Given the description of an element on the screen output the (x, y) to click on. 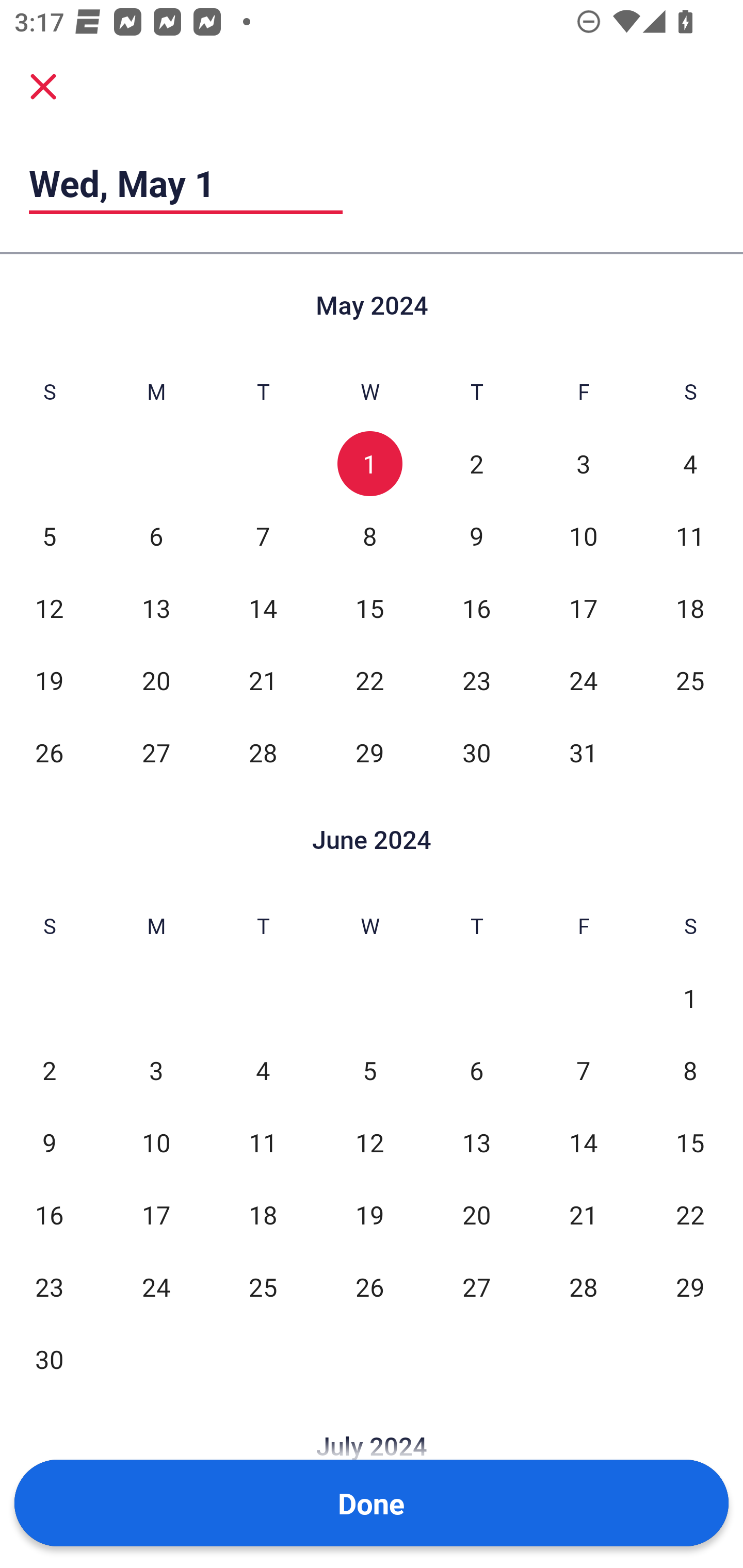
Cancel (43, 86)
Wed, May 1 (185, 182)
1 Wed, May 1, Selected (369, 464)
2 Thu, May 2, Not Selected (476, 464)
3 Fri, May 3, Not Selected (583, 464)
4 Sat, May 4, Not Selected (690, 464)
5 Sun, May 5, Not Selected (49, 536)
6 Mon, May 6, Not Selected (156, 536)
7 Tue, May 7, Not Selected (263, 536)
8 Wed, May 8, Not Selected (369, 536)
9 Thu, May 9, Not Selected (476, 536)
10 Fri, May 10, Not Selected (583, 536)
11 Sat, May 11, Not Selected (690, 536)
12 Sun, May 12, Not Selected (49, 608)
13 Mon, May 13, Not Selected (156, 608)
14 Tue, May 14, Not Selected (263, 608)
15 Wed, May 15, Not Selected (369, 608)
16 Thu, May 16, Not Selected (476, 608)
17 Fri, May 17, Not Selected (583, 608)
18 Sat, May 18, Not Selected (690, 608)
19 Sun, May 19, Not Selected (49, 680)
20 Mon, May 20, Not Selected (156, 680)
21 Tue, May 21, Not Selected (263, 680)
22 Wed, May 22, Not Selected (369, 680)
23 Thu, May 23, Not Selected (476, 680)
24 Fri, May 24, Not Selected (583, 680)
25 Sat, May 25, Not Selected (690, 680)
26 Sun, May 26, Not Selected (49, 752)
27 Mon, May 27, Not Selected (156, 752)
28 Tue, May 28, Not Selected (263, 752)
29 Wed, May 29, Not Selected (369, 752)
30 Thu, May 30, Not Selected (476, 752)
31 Fri, May 31, Not Selected (583, 752)
1 Sat, Jun 1, Not Selected (690, 997)
2 Sun, Jun 2, Not Selected (49, 1070)
3 Mon, Jun 3, Not Selected (156, 1070)
4 Tue, Jun 4, Not Selected (263, 1070)
5 Wed, Jun 5, Not Selected (369, 1070)
6 Thu, Jun 6, Not Selected (476, 1070)
7 Fri, Jun 7, Not Selected (583, 1070)
8 Sat, Jun 8, Not Selected (690, 1070)
9 Sun, Jun 9, Not Selected (49, 1143)
10 Mon, Jun 10, Not Selected (156, 1143)
11 Tue, Jun 11, Not Selected (263, 1143)
12 Wed, Jun 12, Not Selected (369, 1143)
13 Thu, Jun 13, Not Selected (476, 1143)
14 Fri, Jun 14, Not Selected (583, 1143)
15 Sat, Jun 15, Not Selected (690, 1143)
16 Sun, Jun 16, Not Selected (49, 1215)
17 Mon, Jun 17, Not Selected (156, 1215)
18 Tue, Jun 18, Not Selected (263, 1215)
19 Wed, Jun 19, Not Selected (369, 1215)
20 Thu, Jun 20, Not Selected (476, 1215)
21 Fri, Jun 21, Not Selected (583, 1215)
22 Sat, Jun 22, Not Selected (690, 1215)
23 Sun, Jun 23, Not Selected (49, 1287)
24 Mon, Jun 24, Not Selected (156, 1287)
25 Tue, Jun 25, Not Selected (263, 1287)
26 Wed, Jun 26, Not Selected (369, 1287)
27 Thu, Jun 27, Not Selected (476, 1287)
28 Fri, Jun 28, Not Selected (583, 1287)
29 Sat, Jun 29, Not Selected (690, 1287)
30 Sun, Jun 30, Not Selected (49, 1359)
Done Button Done (371, 1502)
